Given the description of an element on the screen output the (x, y) to click on. 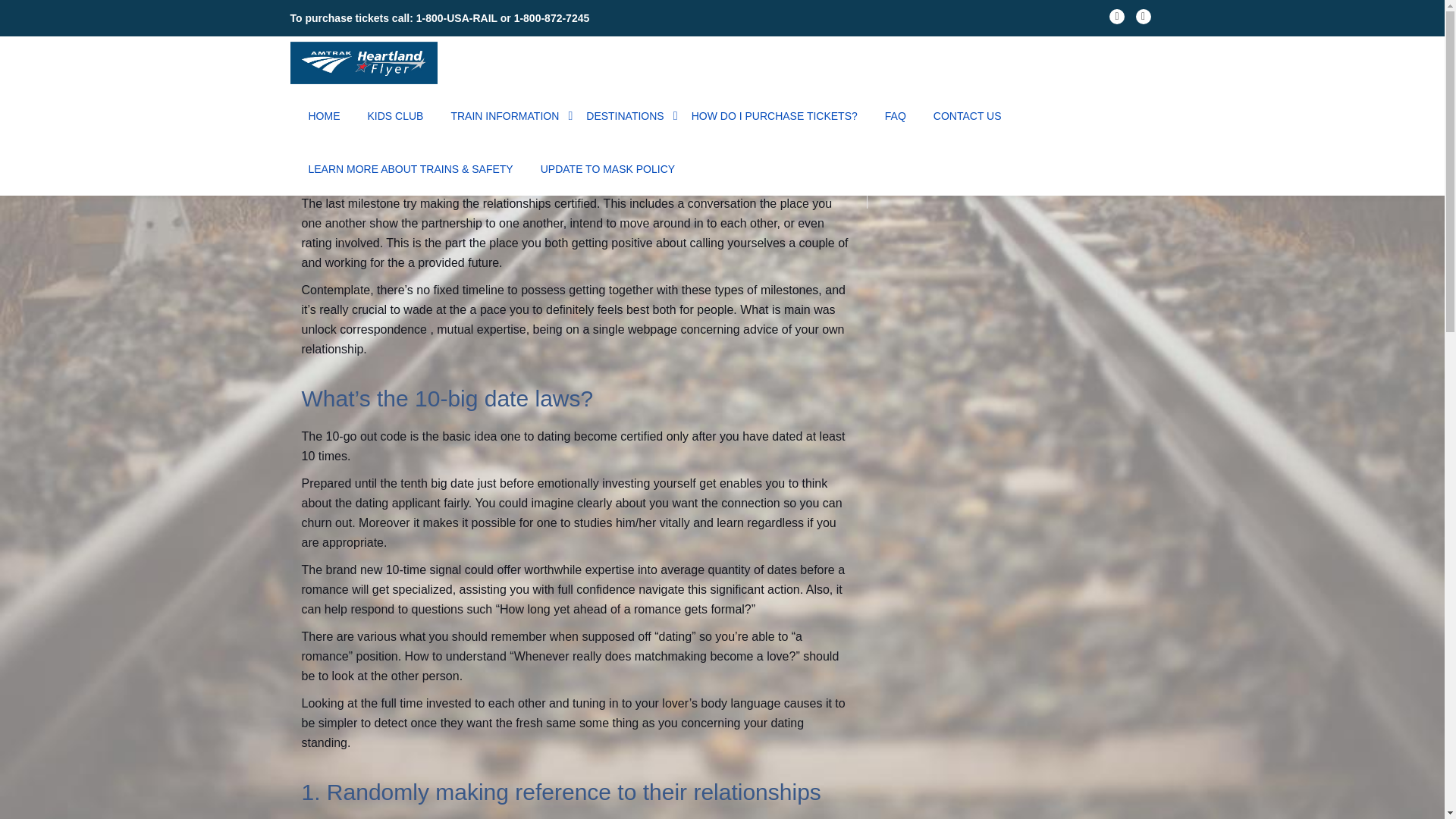
FAQ (895, 115)
Search (1122, 145)
Heartland Flyer (365, 62)
No comments (799, 160)
CONTACT US (967, 115)
UPDATE TO MASK POLICY (607, 169)
HOW DO I PURCHASE TICKETS? (774, 115)
Search (1122, 145)
Shaffer (334, 160)
HOME (323, 115)
